Given the description of an element on the screen output the (x, y) to click on. 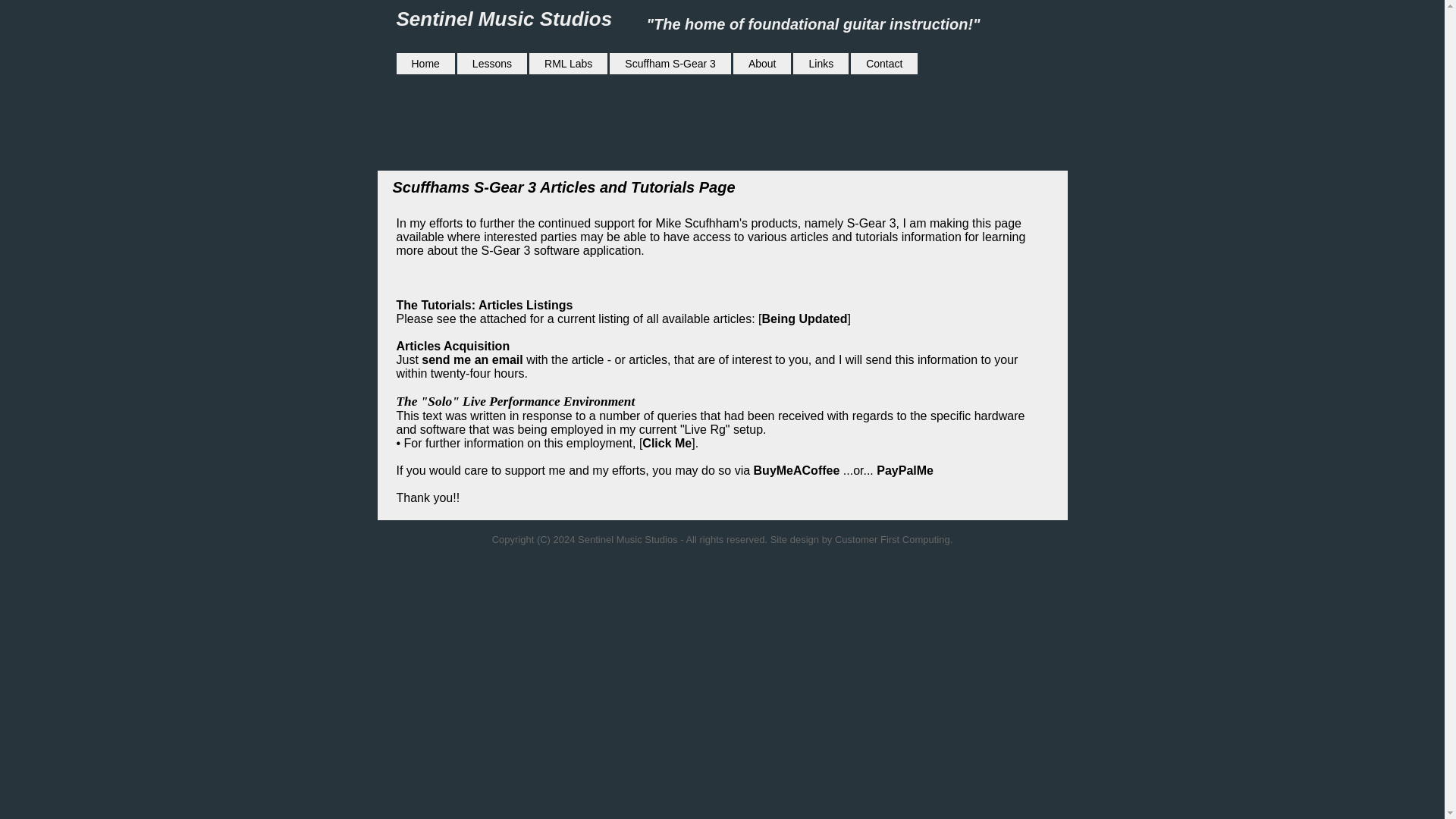
Scuffham S-Gear 3 (670, 63)
PayPalMe (904, 470)
Contact (883, 63)
Links (820, 63)
About (762, 63)
RML Labs (568, 63)
Click Me (666, 442)
send me an email (472, 359)
Customer First Computing (892, 539)
Home (425, 63)
Lessons (492, 63)
BuyMeACoffee (797, 470)
